Given the description of an element on the screen output the (x, y) to click on. 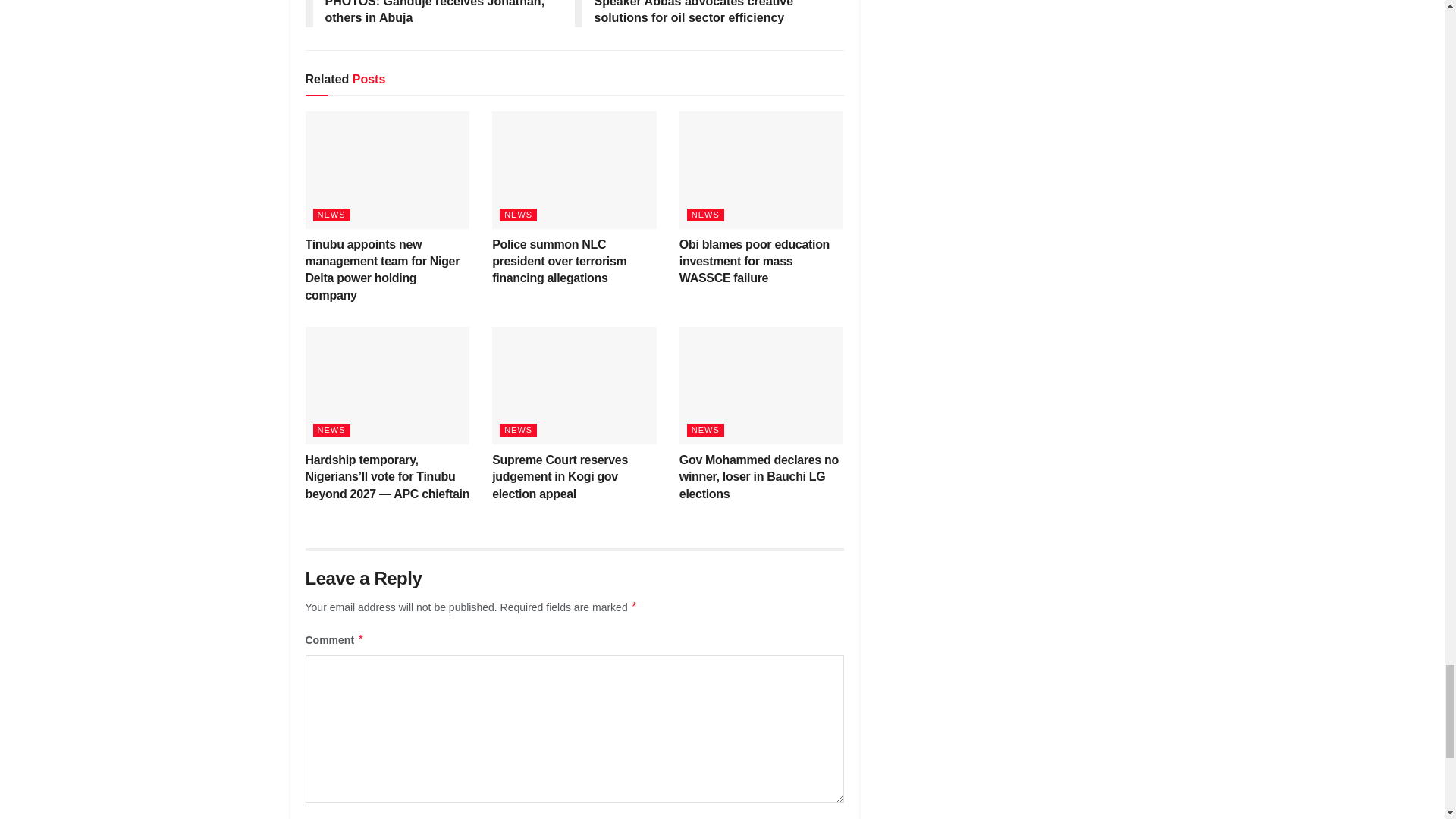
NEWS (331, 214)
